Given the description of an element on the screen output the (x, y) to click on. 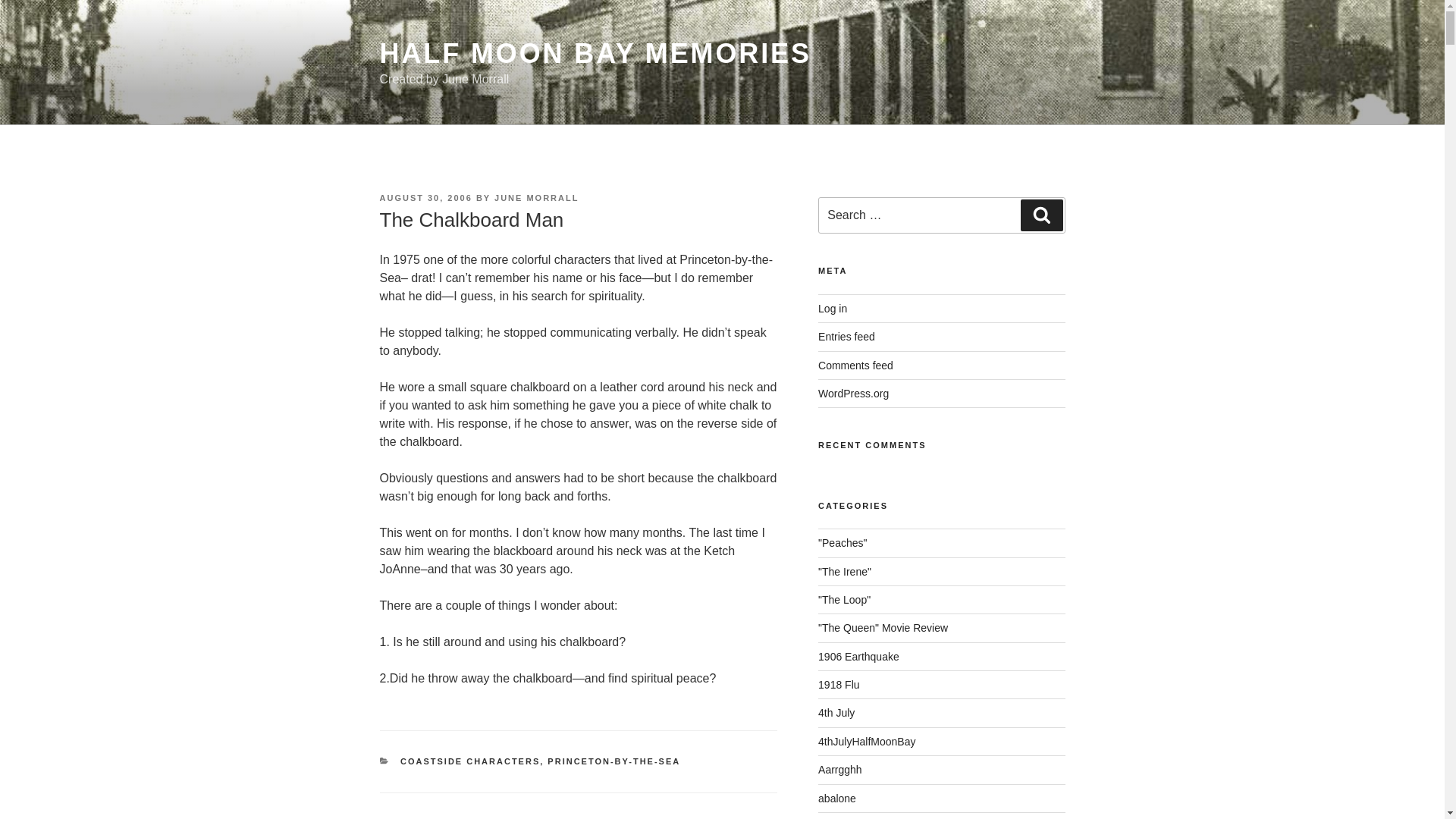
"The Queen" Movie Review (882, 627)
Log in (832, 308)
abalone (837, 798)
"The Irene" (844, 571)
JUNE MORRALL (536, 197)
Search (1041, 214)
1918 Flu (838, 684)
4thJulyHalfMoonBay (866, 741)
1906 Earthquake (858, 656)
WordPress.org (853, 393)
